Given the description of an element on the screen output the (x, y) to click on. 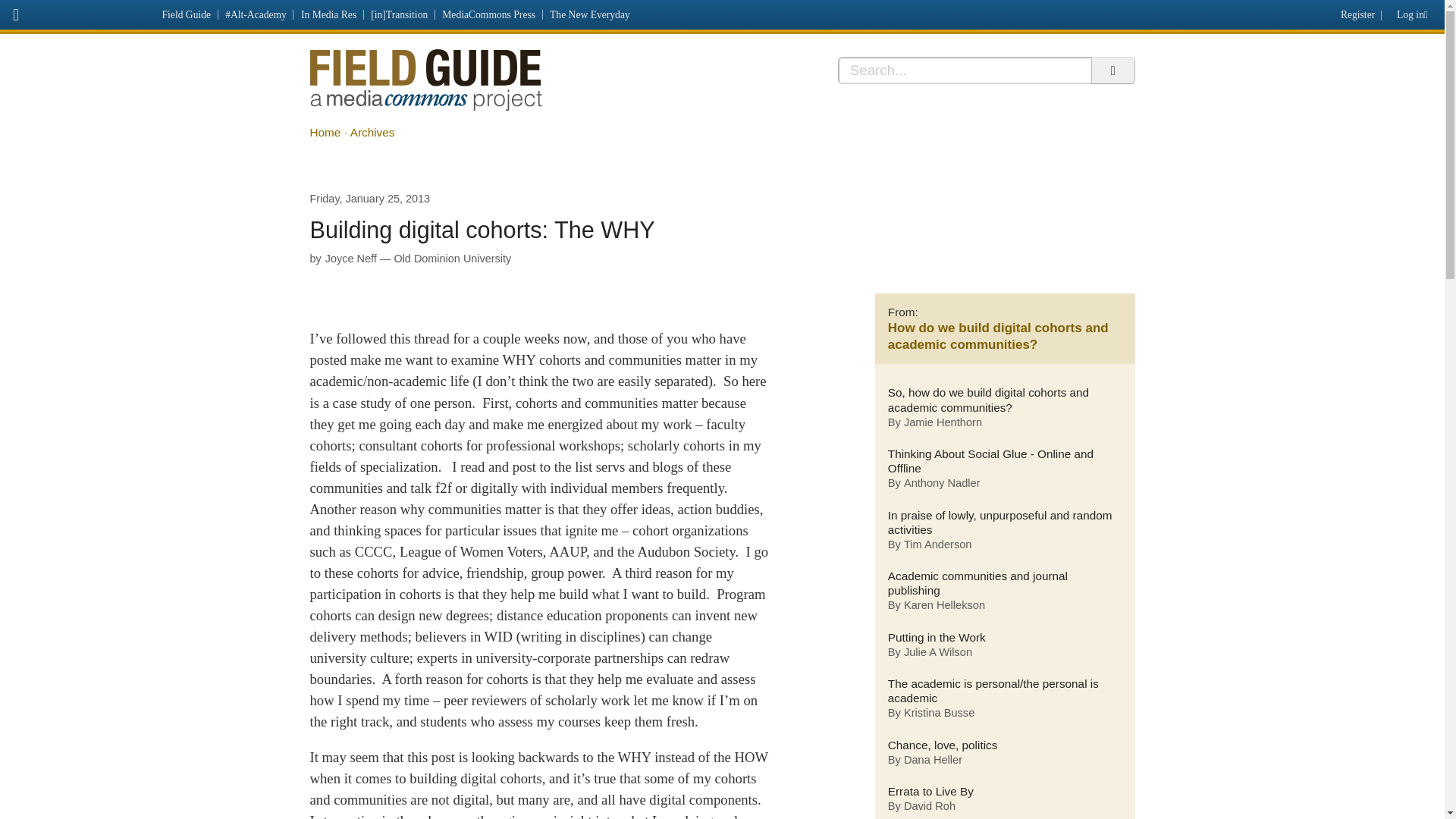
Enter the terms you wish to search for. (965, 70)
The New Everyday (590, 14)
Joyce Neff (350, 258)
How do we build digital cohorts and academic communities? (998, 336)
Log in (1414, 11)
Home (324, 132)
Jamie Henthorn (942, 422)
In Media Res (328, 14)
Register (1355, 11)
Front page (77, 11)
MediaCommons Press (489, 14)
Archives (372, 132)
Field Guide (186, 14)
